Given the description of an element on the screen output the (x, y) to click on. 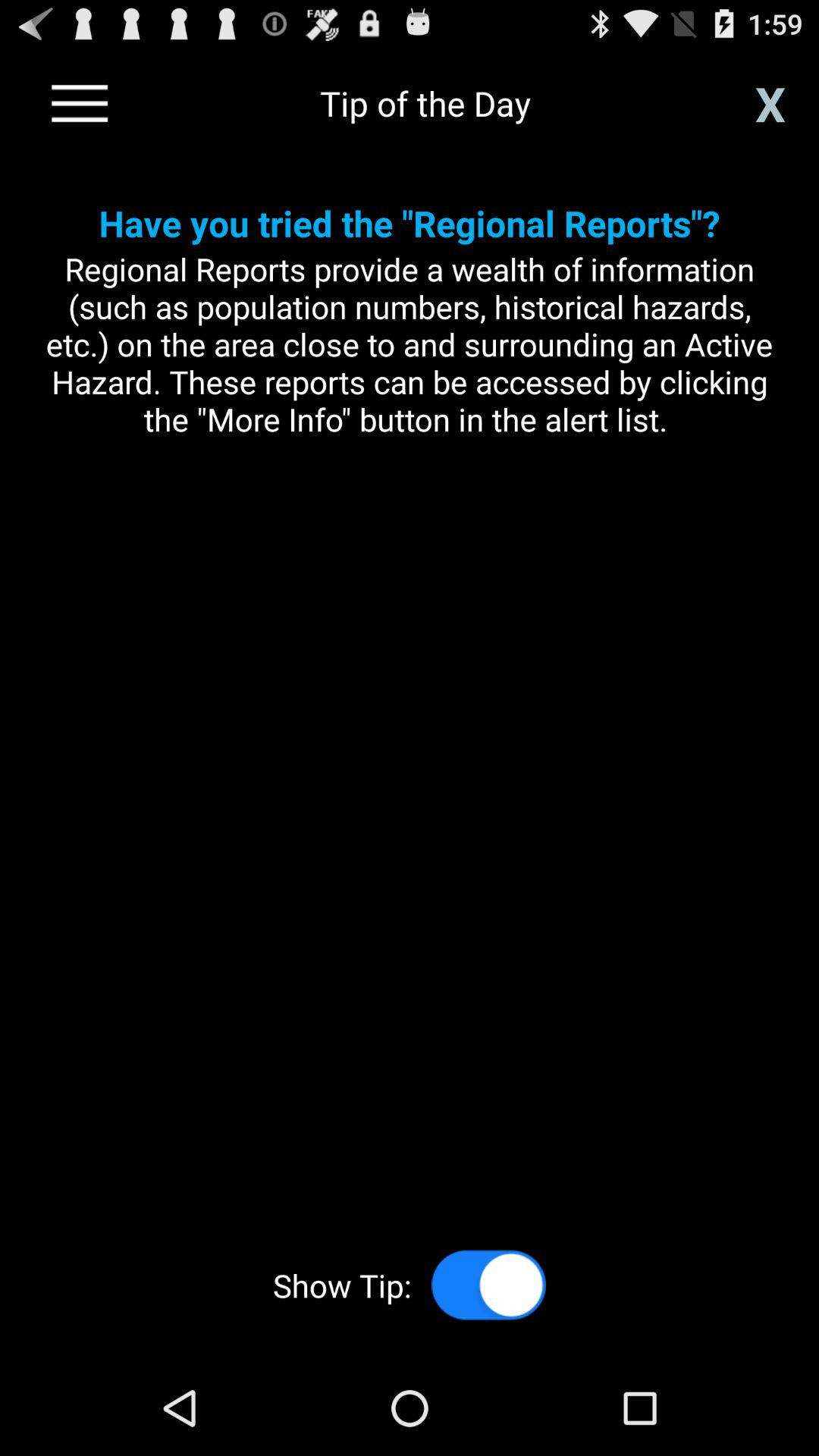
go back (79, 103)
